Given the description of an element on the screen output the (x, y) to click on. 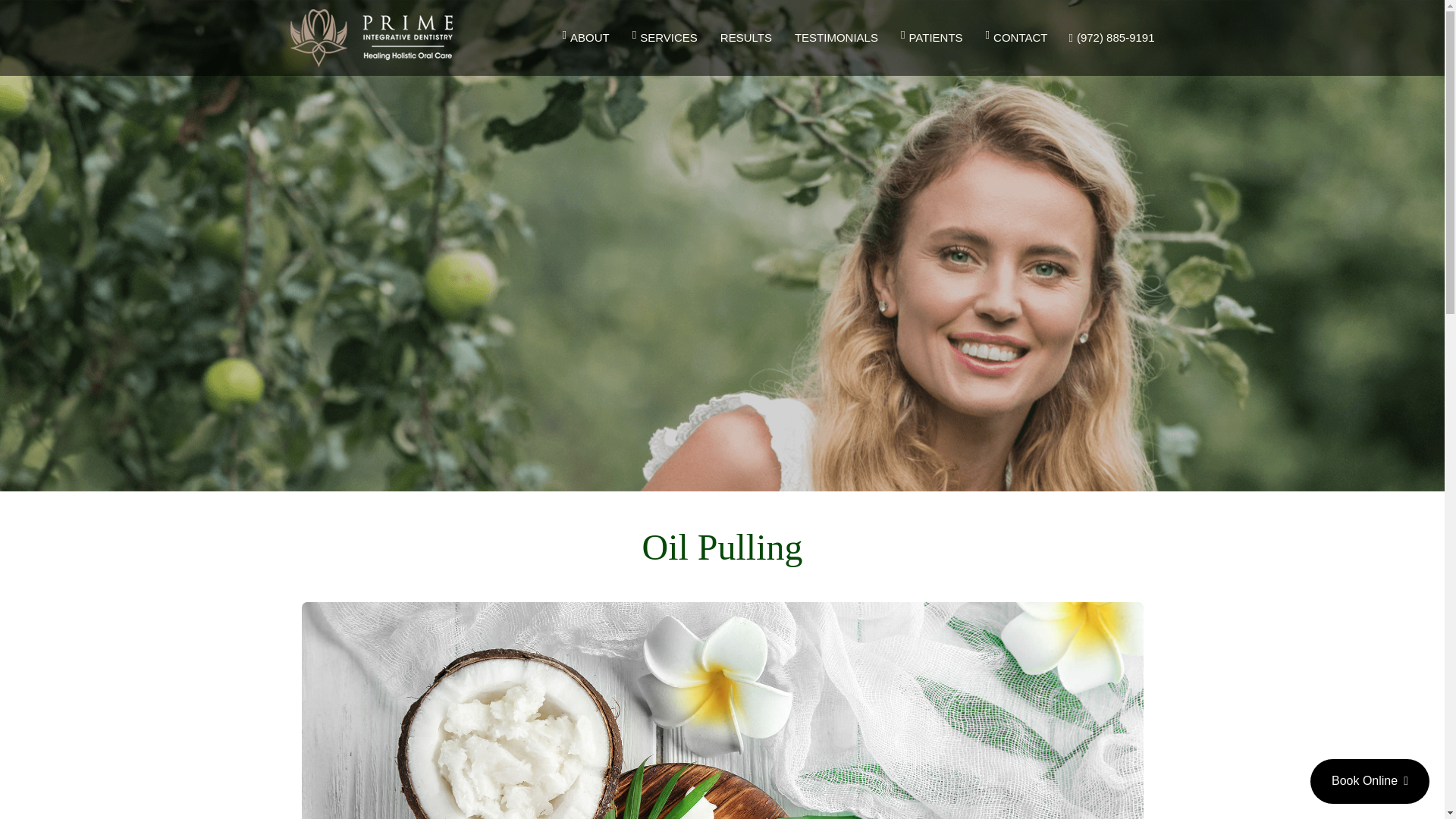
TESTIMONIALS (836, 37)
RESULTS (746, 37)
PATIENTS (931, 37)
Book Online (1369, 781)
SERVICES (665, 37)
CONTACT (1011, 37)
ABOUT (591, 37)
